Given the description of an element on the screen output the (x, y) to click on. 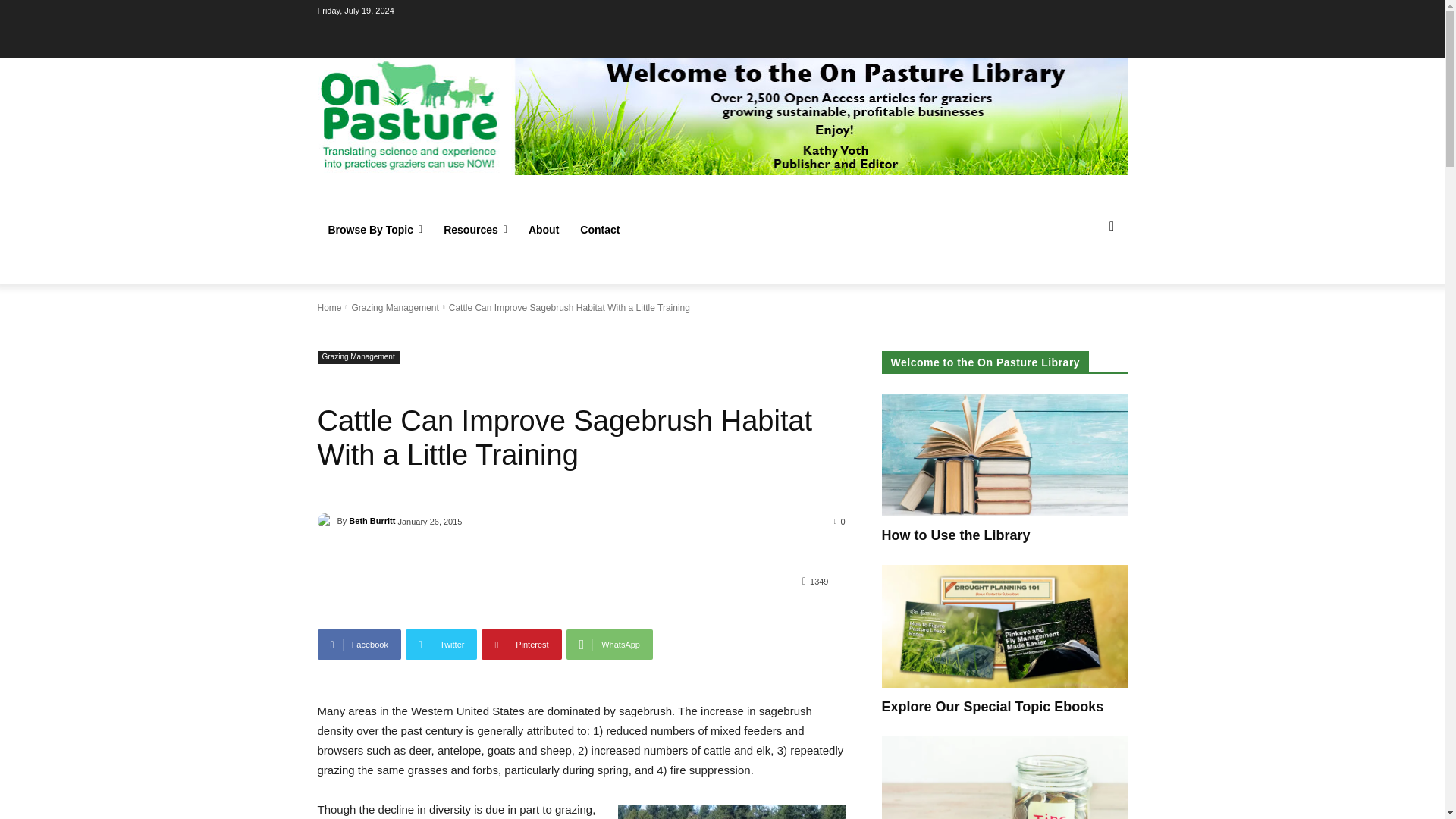
WhatsApp (609, 644)
Facebook (358, 644)
Pinterest (520, 644)
Twitter (441, 644)
View all posts in Grazing Management (394, 307)
Beth Burritt (326, 520)
